Given the description of an element on the screen output the (x, y) to click on. 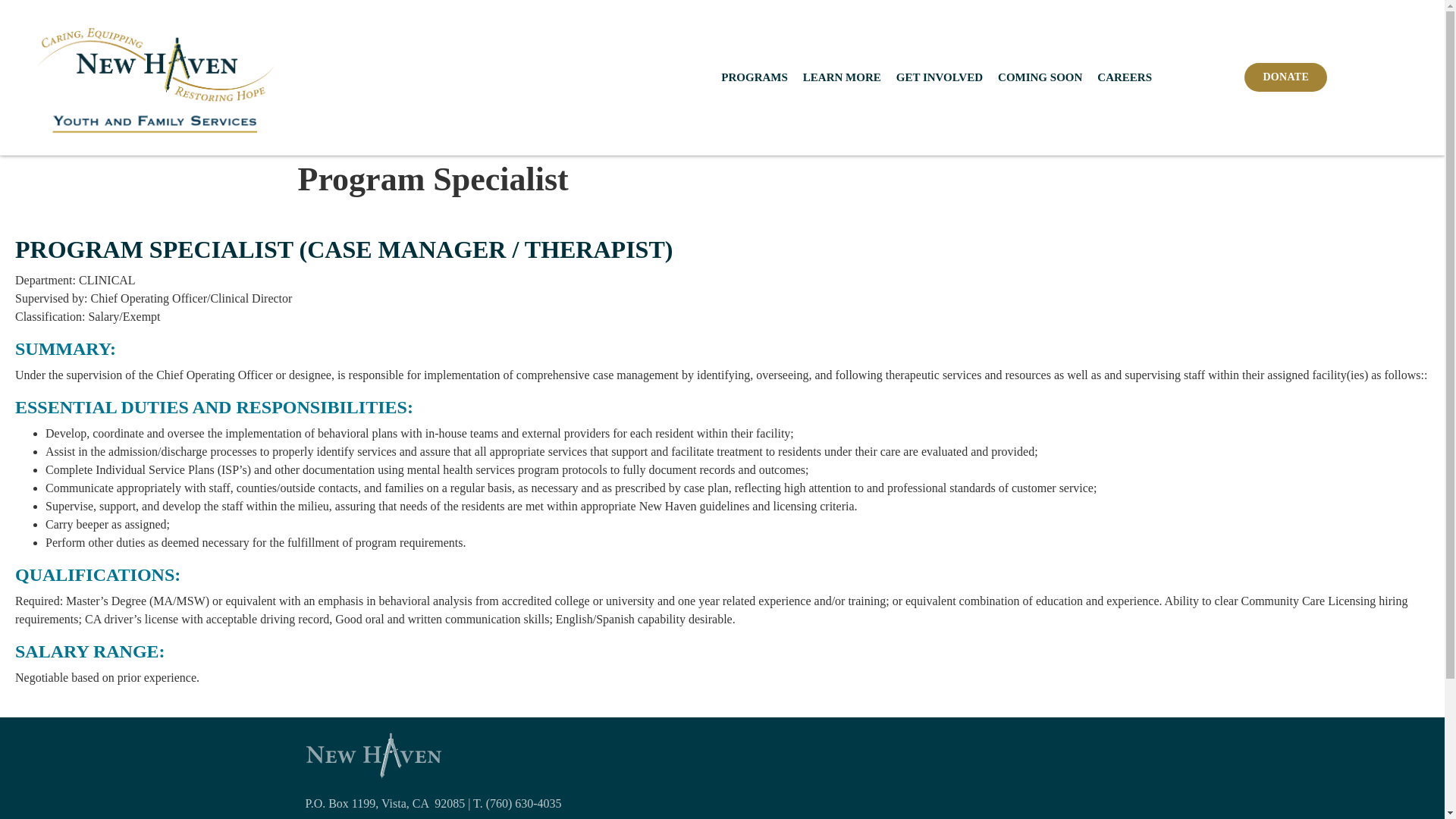
PROGRAMS (753, 77)
GET INVOLVED (939, 77)
LEARN MORE (841, 77)
